Given the description of an element on the screen output the (x, y) to click on. 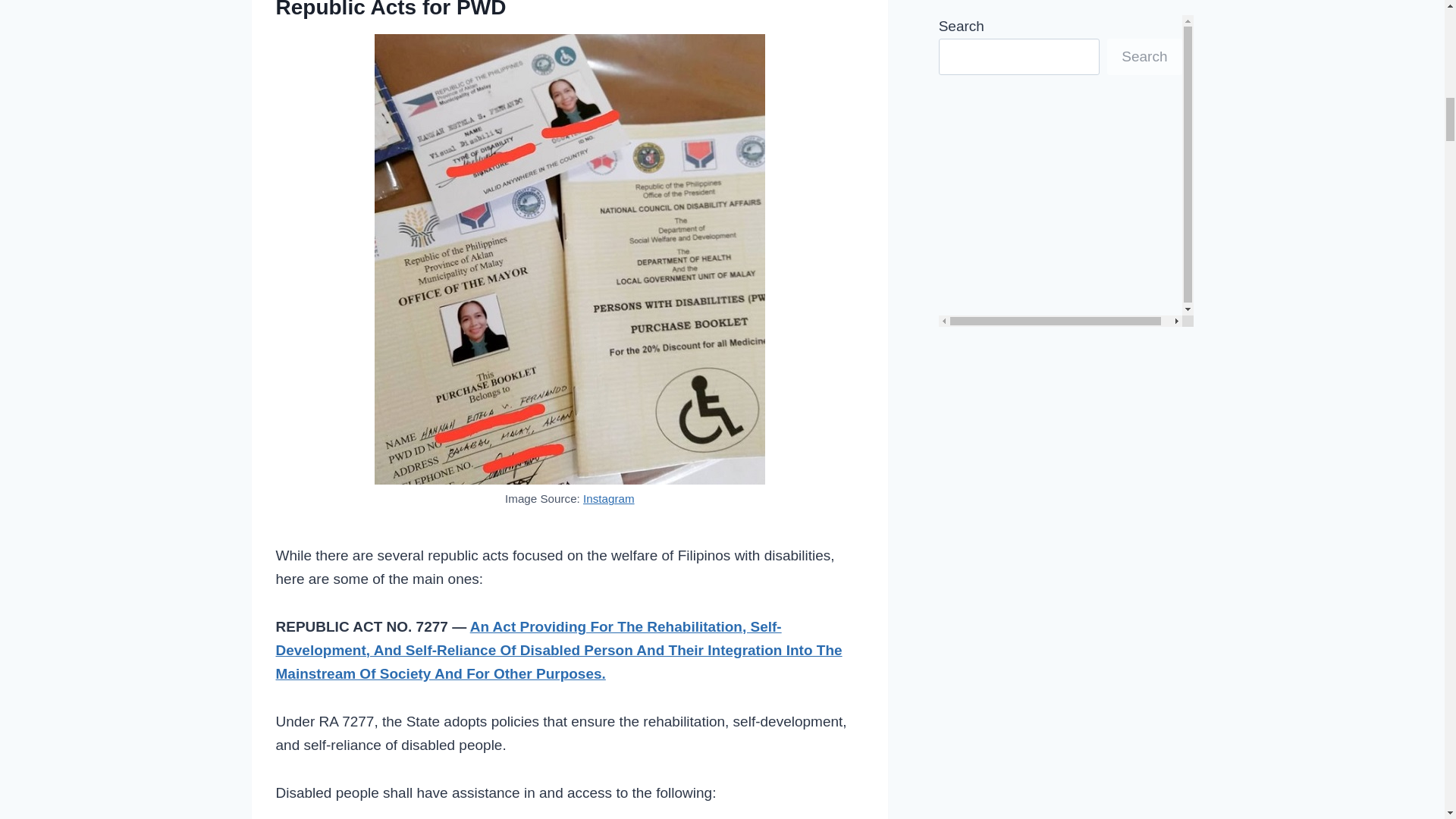
Instagram (608, 498)
